Given the description of an element on the screen output the (x, y) to click on. 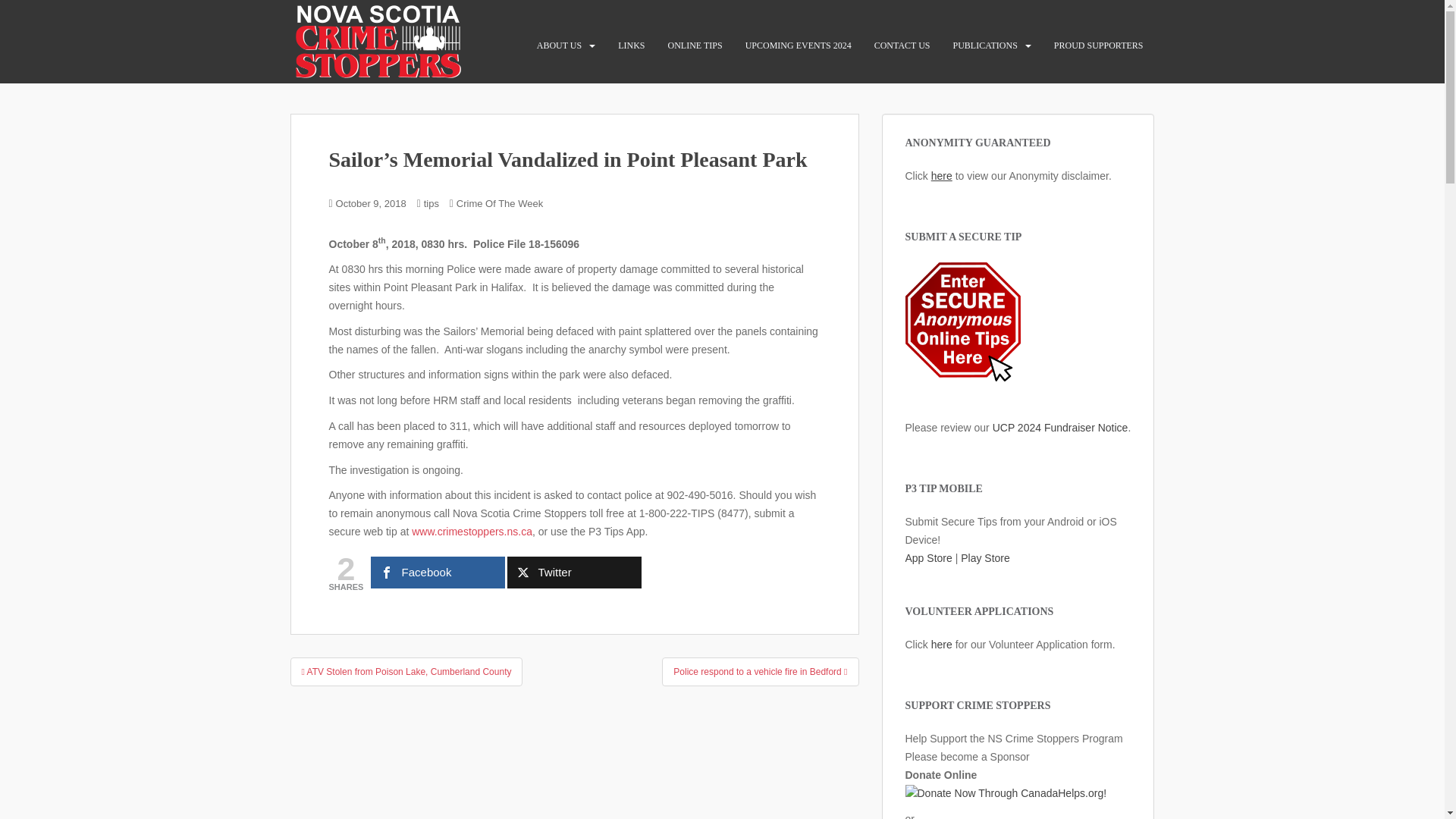
ATV Stolen from Poison Lake, Cumberland County (405, 671)
ABOUT US (558, 45)
Facebook (438, 572)
iTunes (928, 558)
CONTACT US (902, 45)
here (941, 175)
Twitter (574, 572)
UCP 2024 Fundraiser Notice (1060, 427)
Police respond to a vehicle fire in Bedford (760, 671)
here (941, 644)
